Given the description of an element on the screen output the (x, y) to click on. 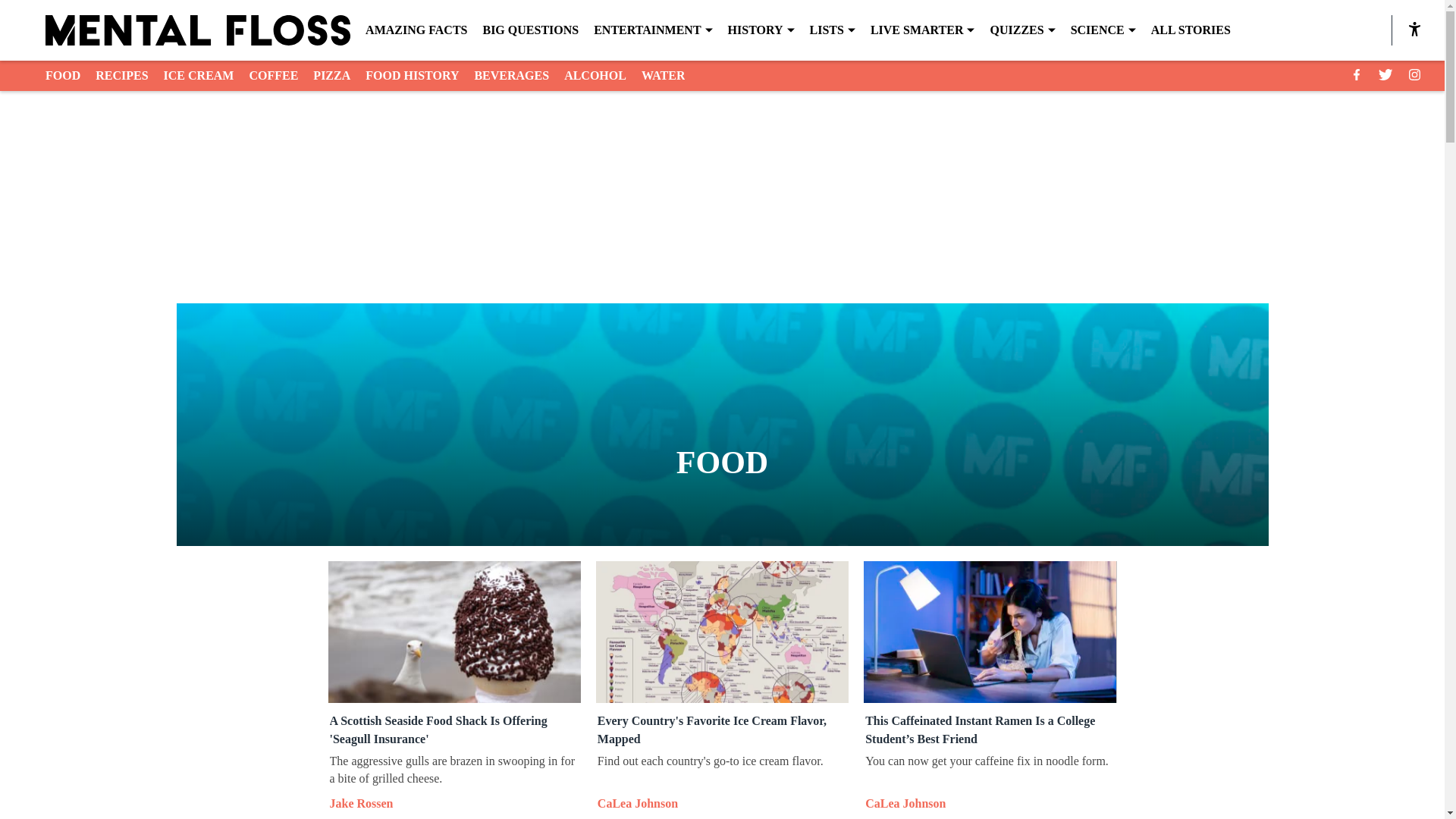
FOOD (62, 75)
ICE CREAM (198, 75)
This won't end well. (453, 631)
AMAZING FACTS (416, 30)
RECIPES (122, 75)
BIG QUESTIONS (529, 30)
Which ice cream flavor do you think comes out on top?  (721, 631)
ALL STORIES (1190, 30)
